Given the description of an element on the screen output the (x, y) to click on. 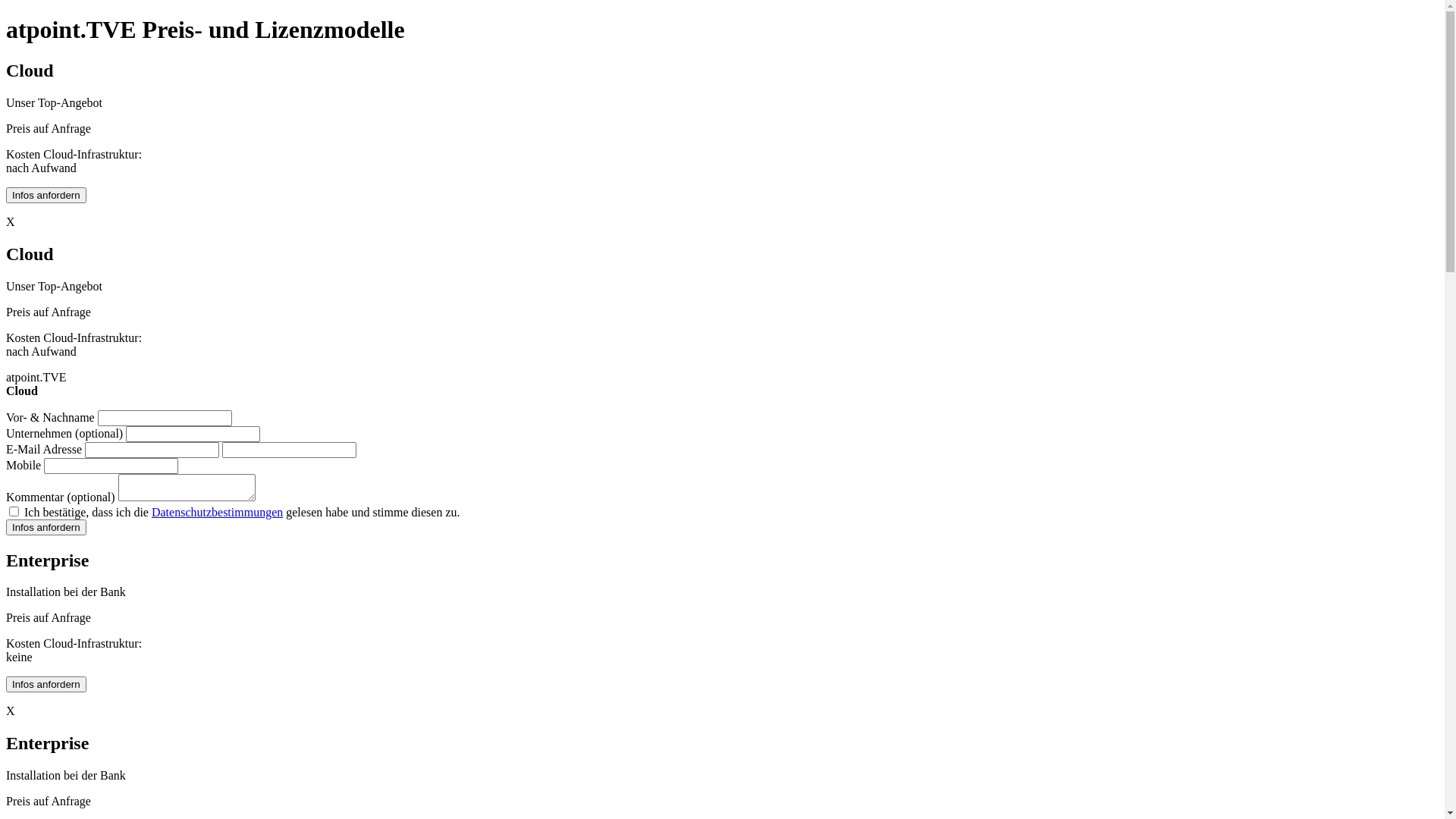
Infos anfordern Element type: text (46, 684)
Infos anfordern Element type: text (46, 195)
Infos anfordern Element type: text (46, 527)
